Given the description of an element on the screen output the (x, y) to click on. 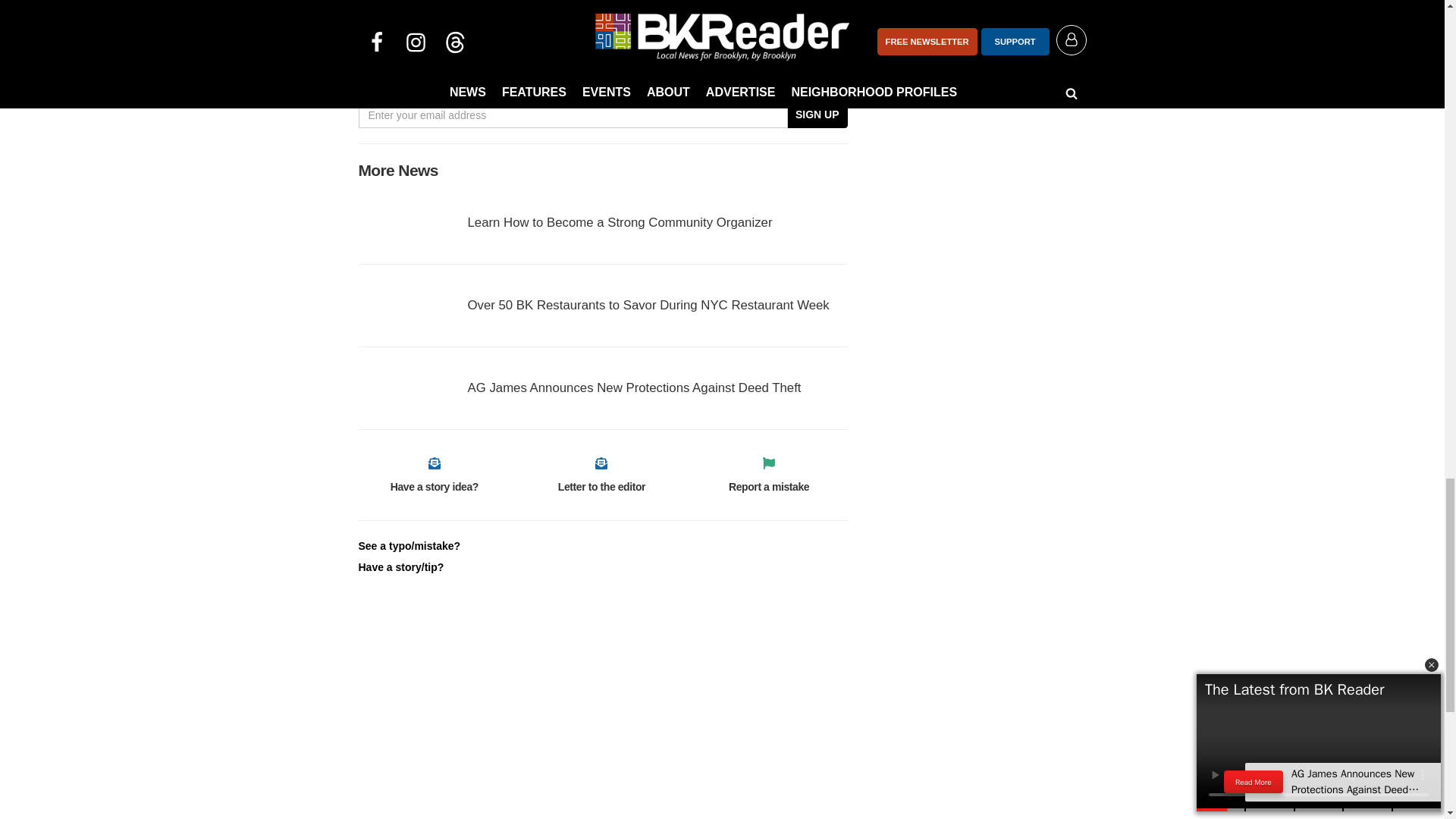
3rd party ad content (972, 55)
